Given the description of an element on the screen output the (x, y) to click on. 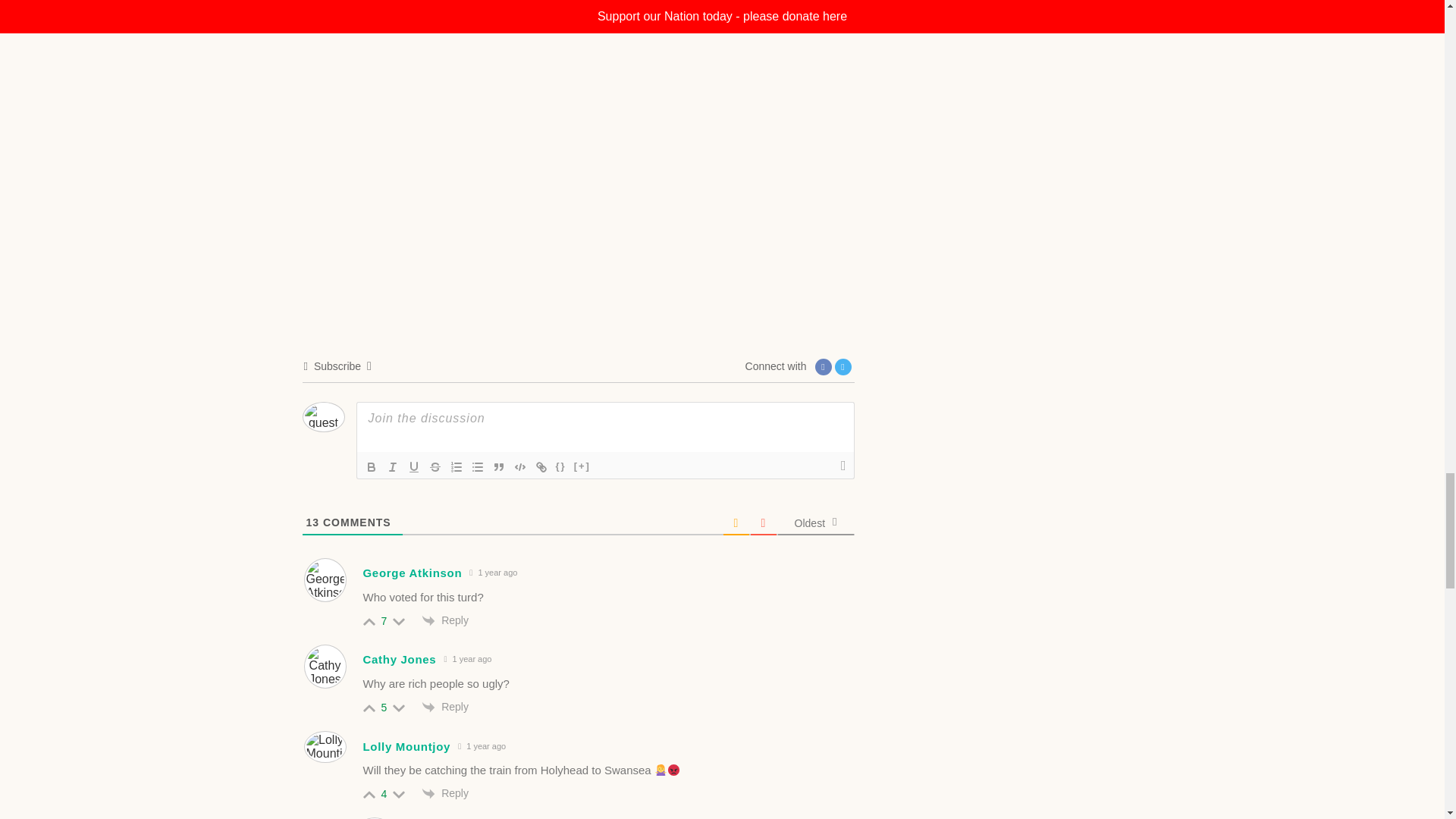
Spoiler (582, 466)
Strike (435, 466)
bullet (477, 466)
Bold (371, 466)
Ordered List (456, 466)
Blockquote (498, 466)
Unordered List (477, 466)
Italic (392, 466)
ordered (456, 466)
Underline (414, 466)
Source Code (560, 466)
Code Block (520, 466)
Link (541, 466)
